Given the description of an element on the screen output the (x, y) to click on. 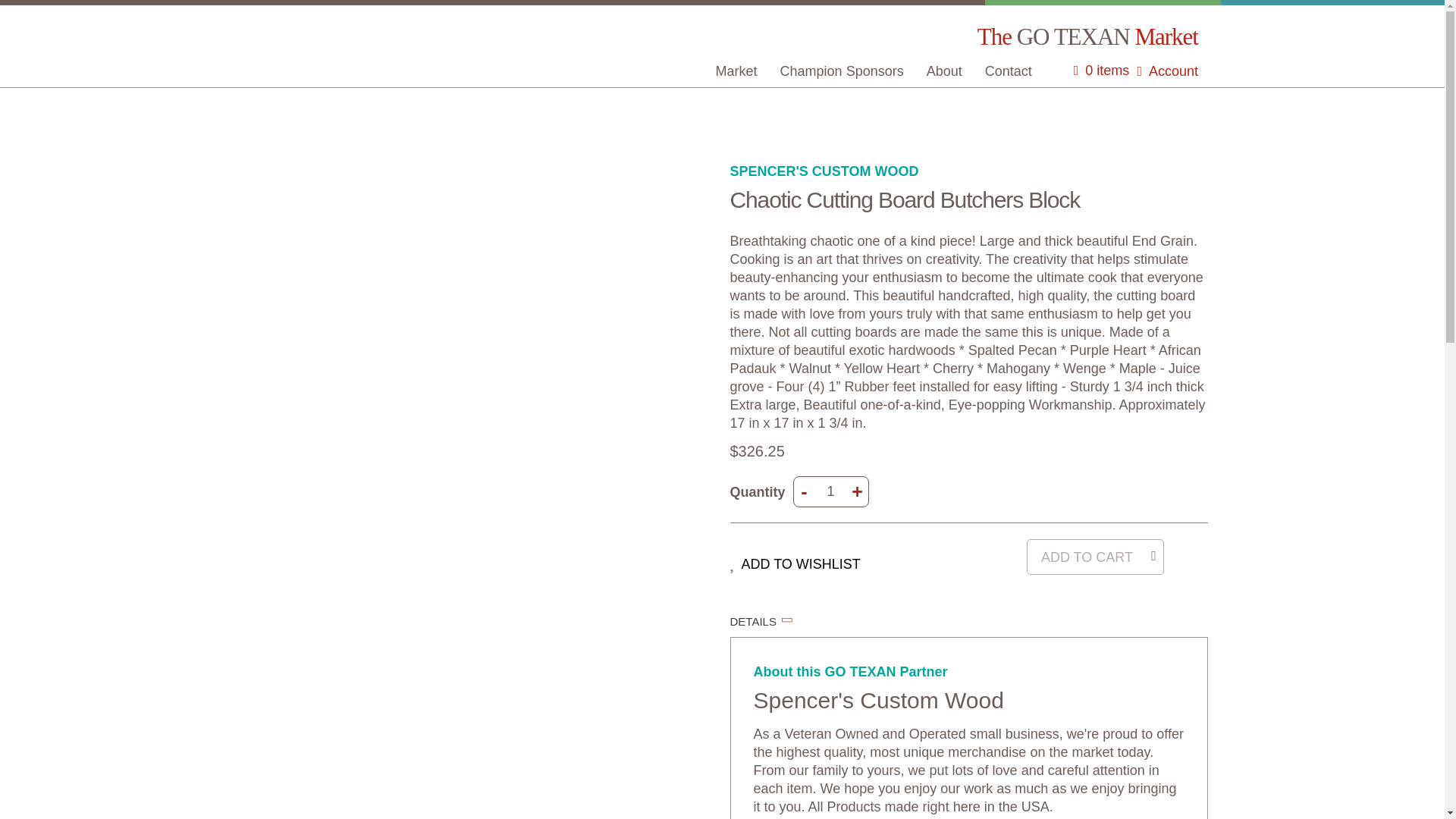
Market (736, 70)
Champion Sponsors (842, 70)
Add to cart (1094, 556)
ADD TO WISHLIST (794, 562)
Account (1167, 70)
1 (831, 490)
Contact (1008, 70)
Add to cart (1094, 556)
Account (1167, 70)
